Given the description of an element on the screen output the (x, y) to click on. 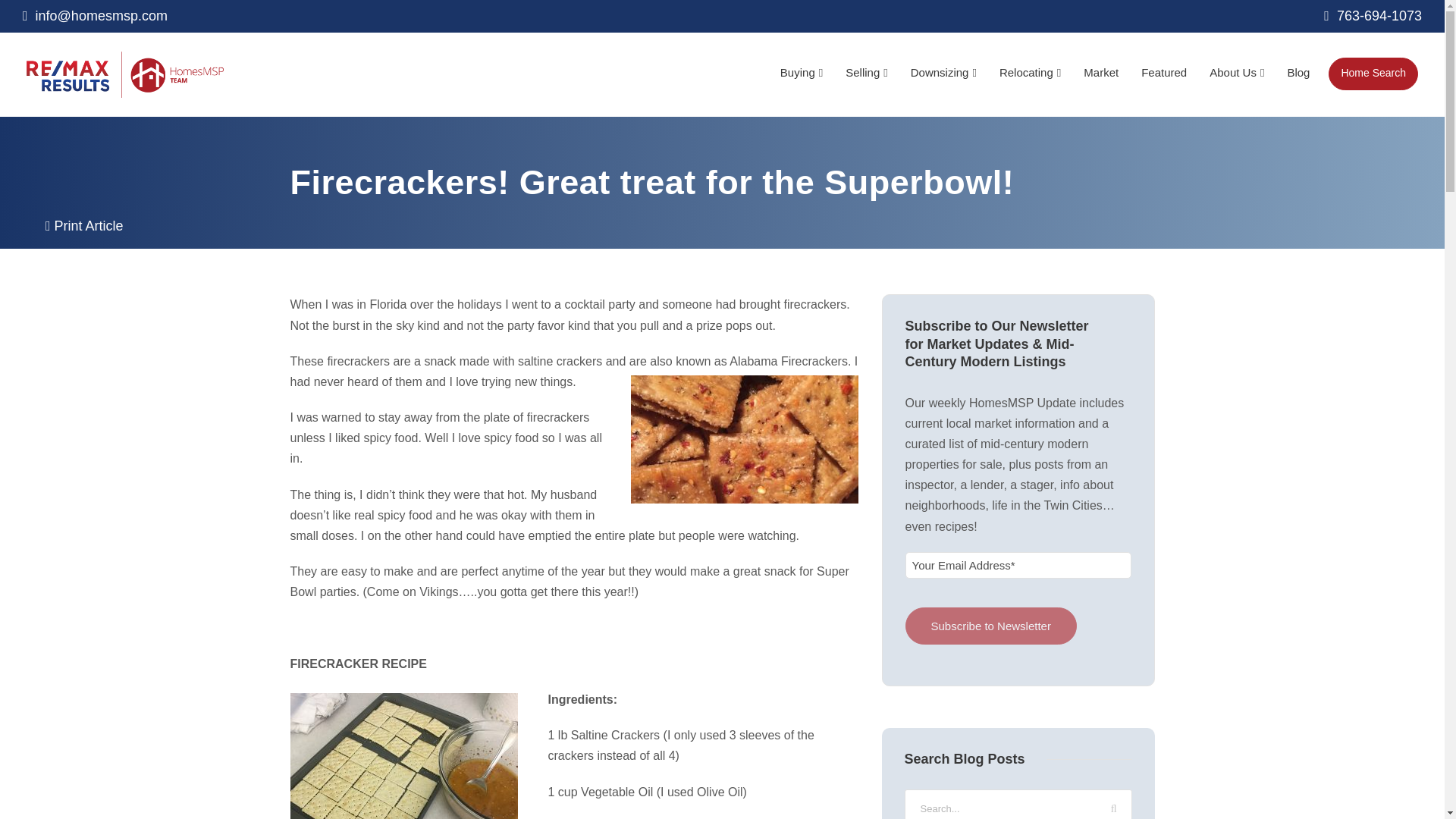
763-694-1073 (1372, 15)
Buying (801, 80)
Subscribe to Newsletter (991, 625)
remax-homesmsp (125, 74)
